Given the description of an element on the screen output the (x, y) to click on. 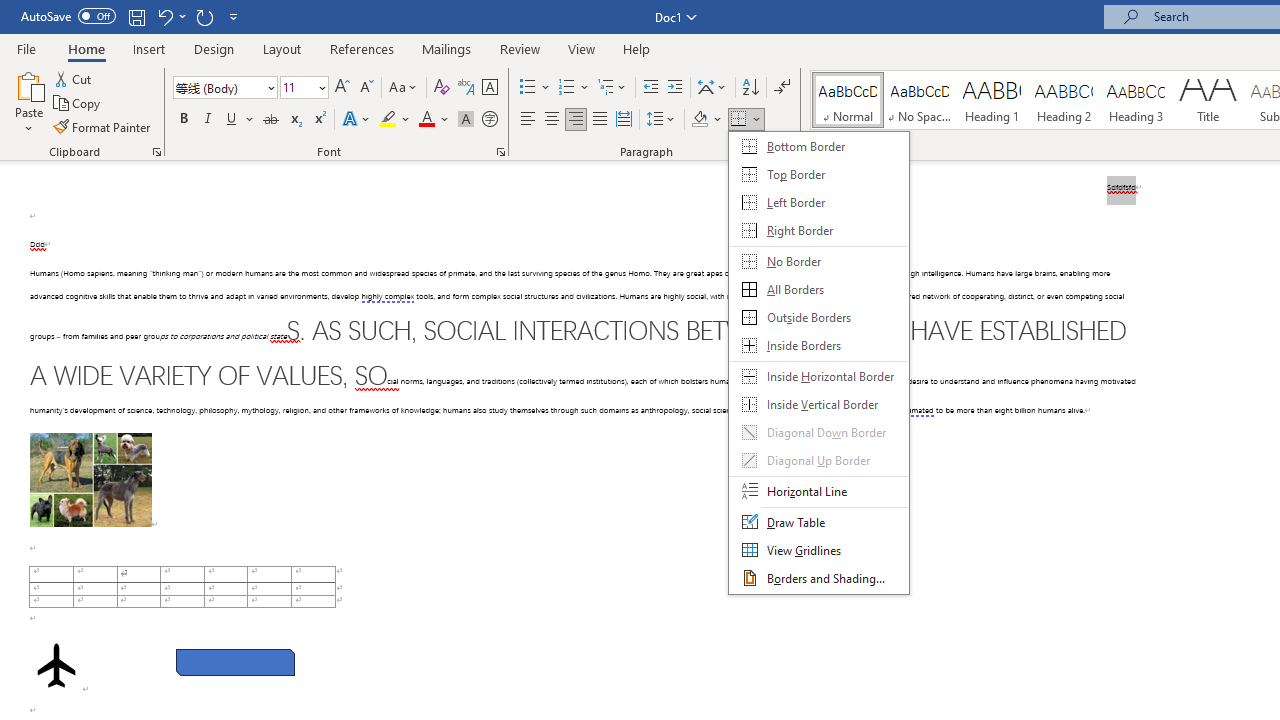
Numbering (566, 87)
Subscript (294, 119)
Customize Quick Access Toolbar (234, 15)
Morphological variation in six dogs (90, 479)
Office Clipboard... (156, 151)
Show/Hide Editing Marks (781, 87)
Bullets (527, 87)
Cut (73, 78)
Text Highlight Color (395, 119)
Center (552, 119)
Shading (706, 119)
&Borders (819, 362)
Clear Formatting (442, 87)
